Given the description of an element on the screen output the (x, y) to click on. 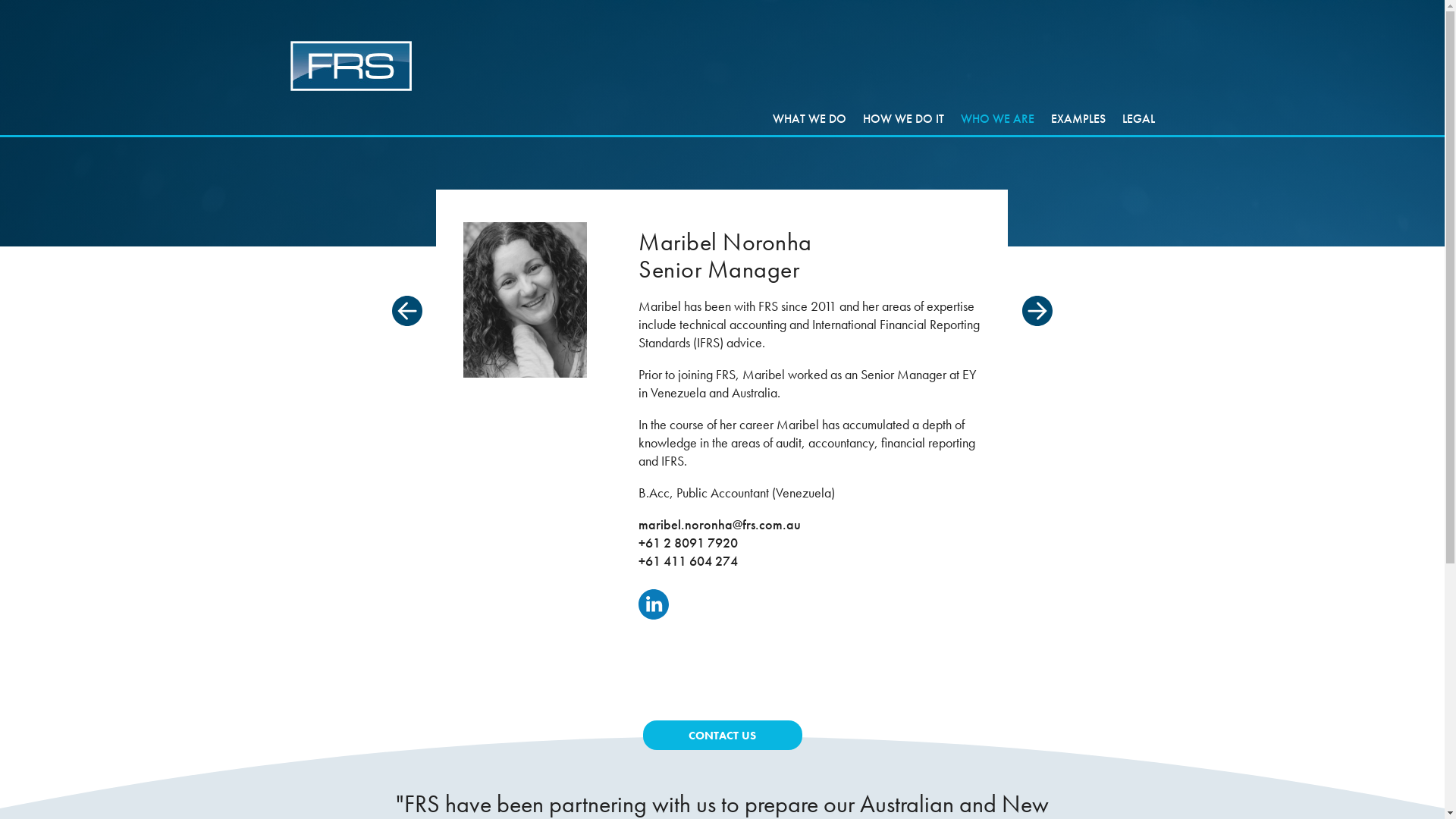
+61 411 604 274 Element type: text (687, 560)
maribel.noronha@frs.com.au Element type: text (719, 524)
LEGAL Element type: text (1138, 118)
WHAT WE DO Element type: text (808, 118)
EXAMPLES Element type: text (1078, 118)
Previous Element type: text (407, 310)
Next Element type: text (1037, 310)
WHO WE ARE Element type: text (996, 118)
+61 2 8091 7920 Element type: text (687, 542)
LinkedIn Element type: text (653, 604)
HOW WE DO IT Element type: text (903, 118)
CONTACT US Element type: text (722, 734)
